Given the description of an element on the screen output the (x, y) to click on. 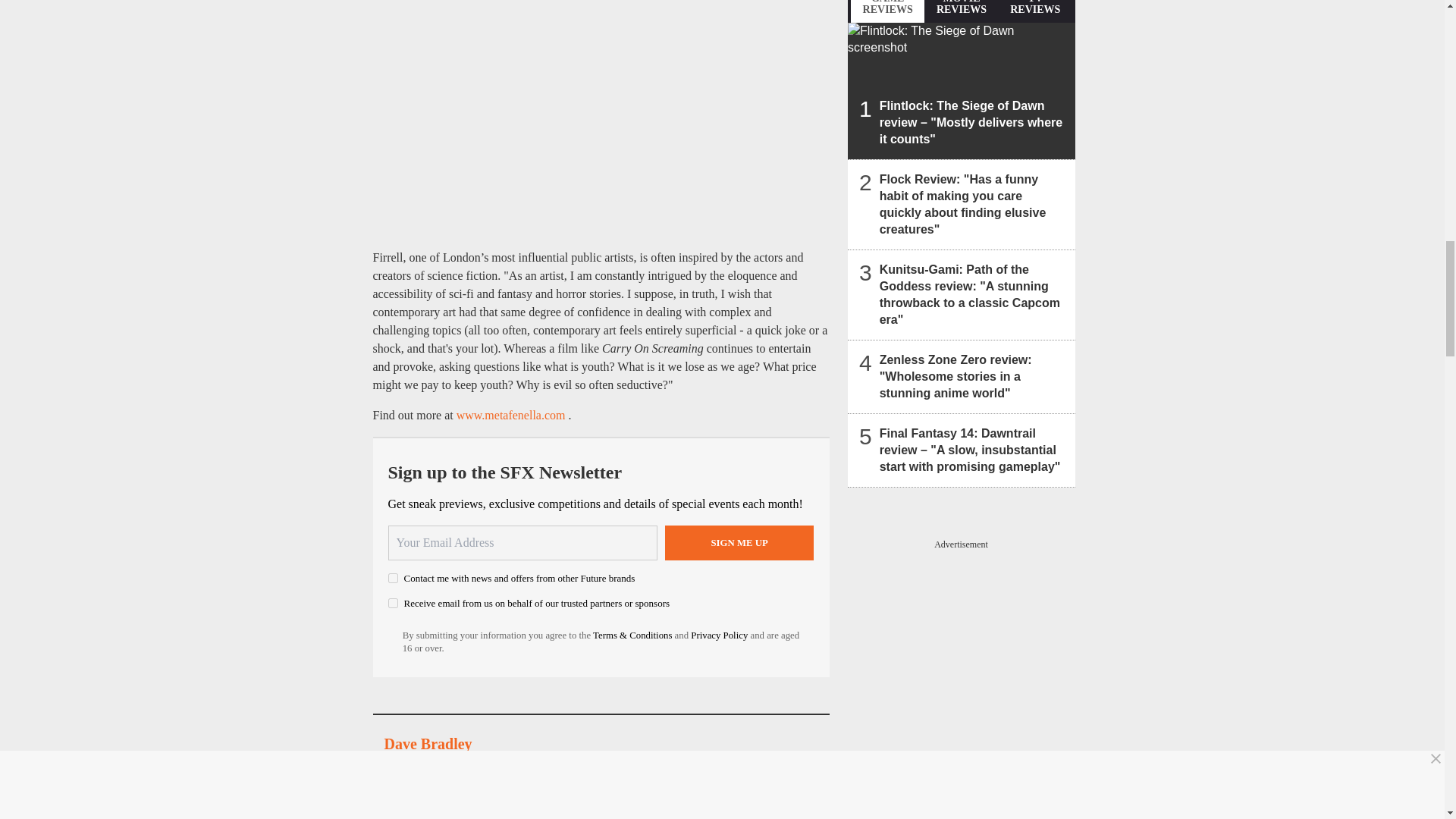
on (392, 578)
on (392, 603)
Sign me up (739, 542)
